Given the description of an element on the screen output the (x, y) to click on. 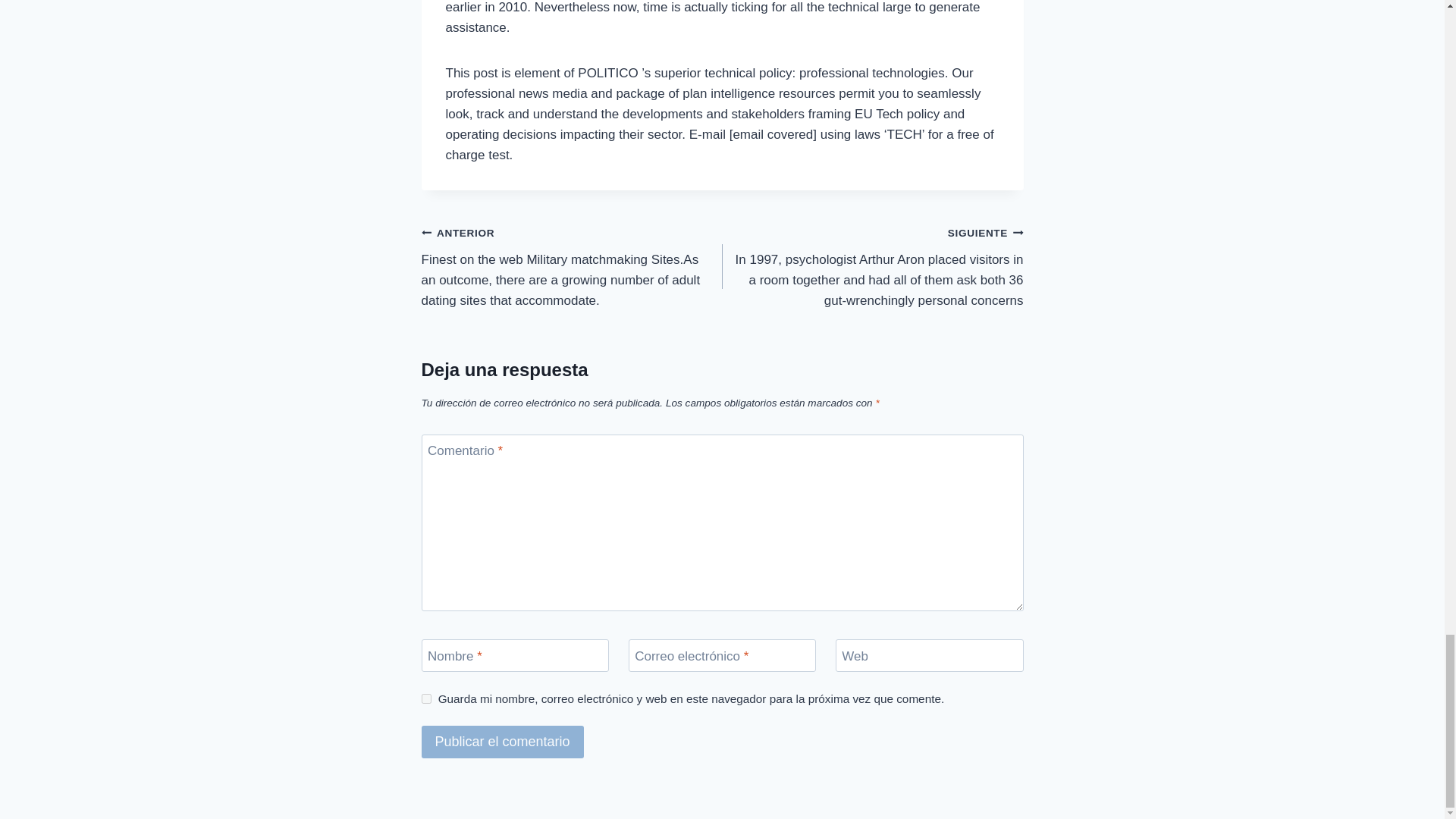
Publicar el comentario (502, 741)
yes (426, 698)
Publicar el comentario (502, 741)
